Given the description of an element on the screen output the (x, y) to click on. 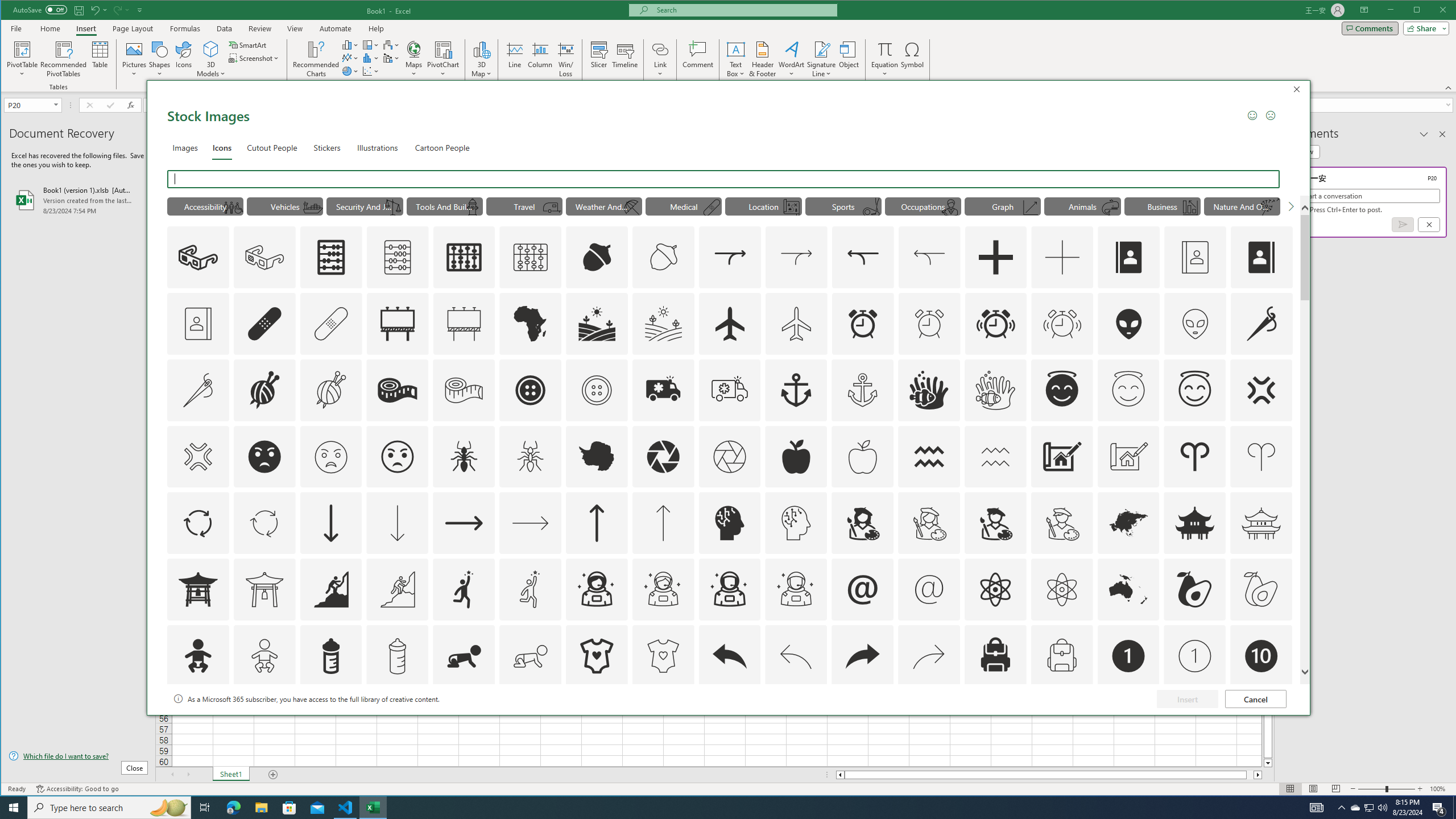
Illustrations (377, 147)
Send a Smile (1251, 115)
AutomationID: Icons_Freight_M (312, 207)
"Location" Icons. (763, 206)
AutomationID: Icons_WeightsUneven1_M (392, 207)
